Given the description of an element on the screen output the (x, y) to click on. 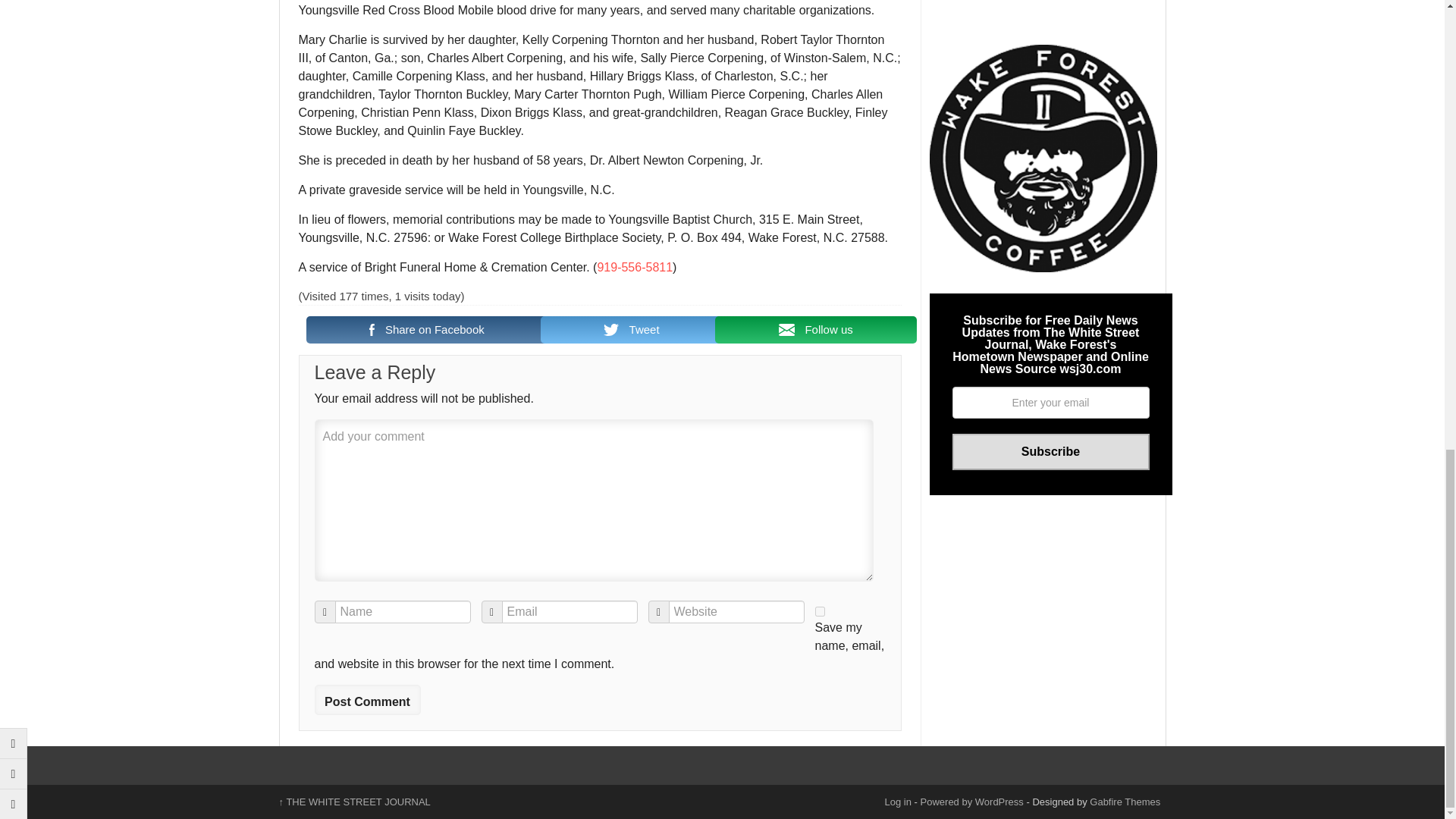
Subscribe (1051, 452)
yes (818, 611)
Post Comment (367, 699)
